Given the description of an element on the screen output the (x, y) to click on. 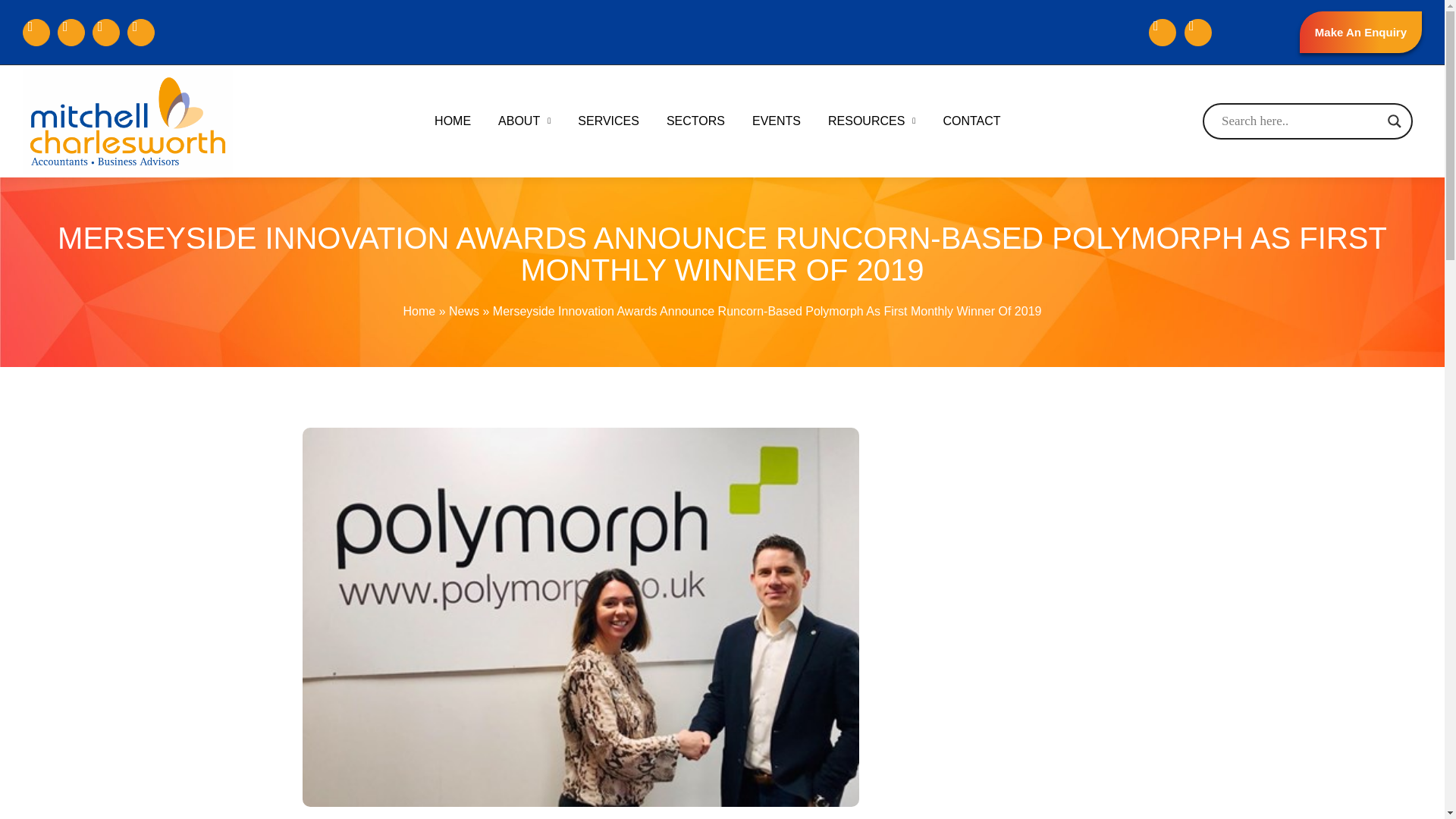
HOME (452, 121)
Make An Enquiry (1361, 32)
ABOUT (524, 121)
SECTORS (695, 121)
SERVICES (608, 121)
CONTACT (970, 121)
RESOURCES (870, 121)
EVENTS (775, 121)
